Given the description of an element on the screen output the (x, y) to click on. 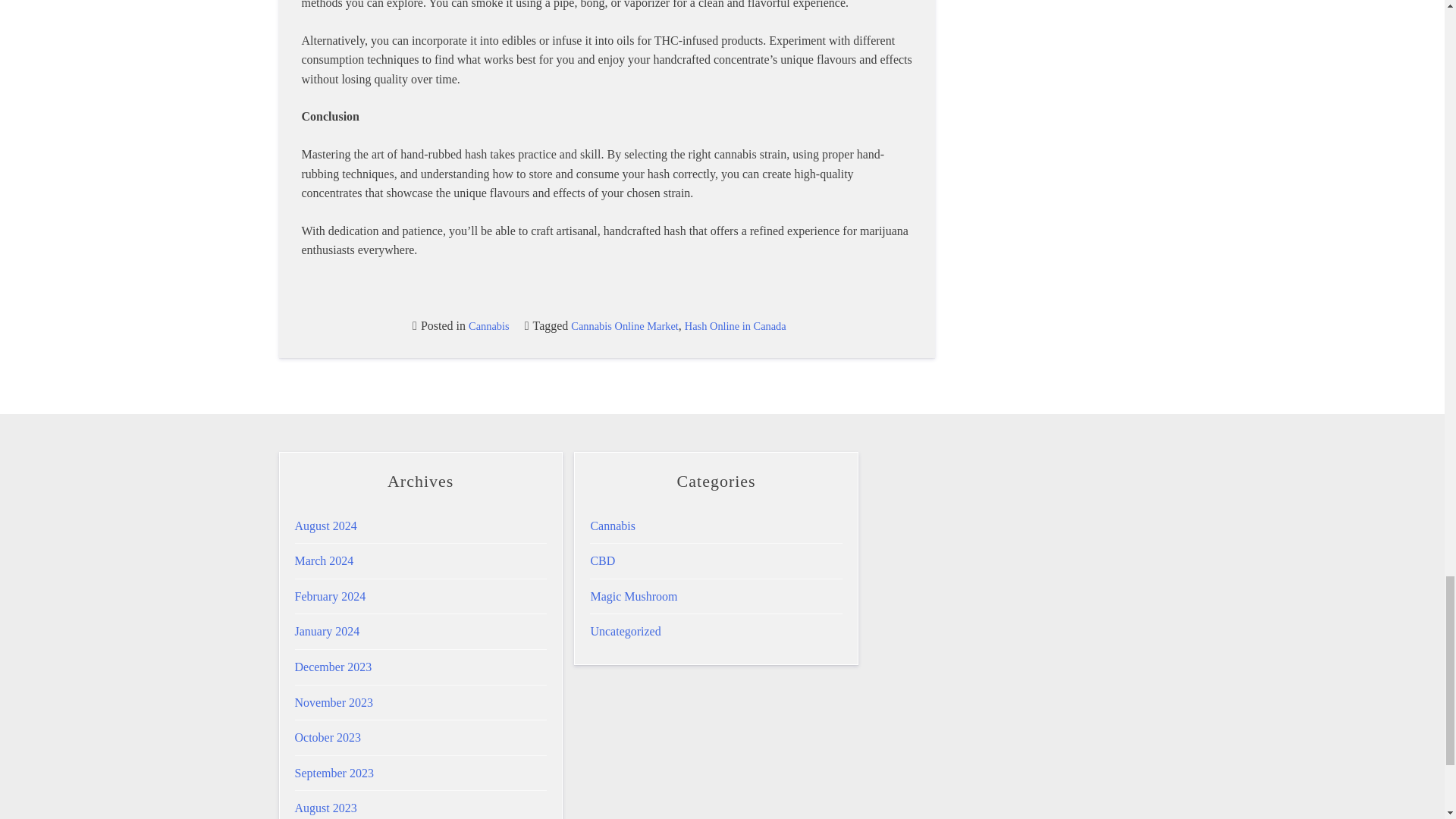
CBD (601, 560)
September 2023 (333, 772)
Cannabis Online Market (624, 326)
August 2023 (325, 807)
Cannabis (611, 525)
August 2024 (325, 525)
January 2024 (326, 631)
November 2023 (333, 702)
Magic Mushroom (633, 595)
February 2024 (329, 595)
